Given the description of an element on the screen output the (x, y) to click on. 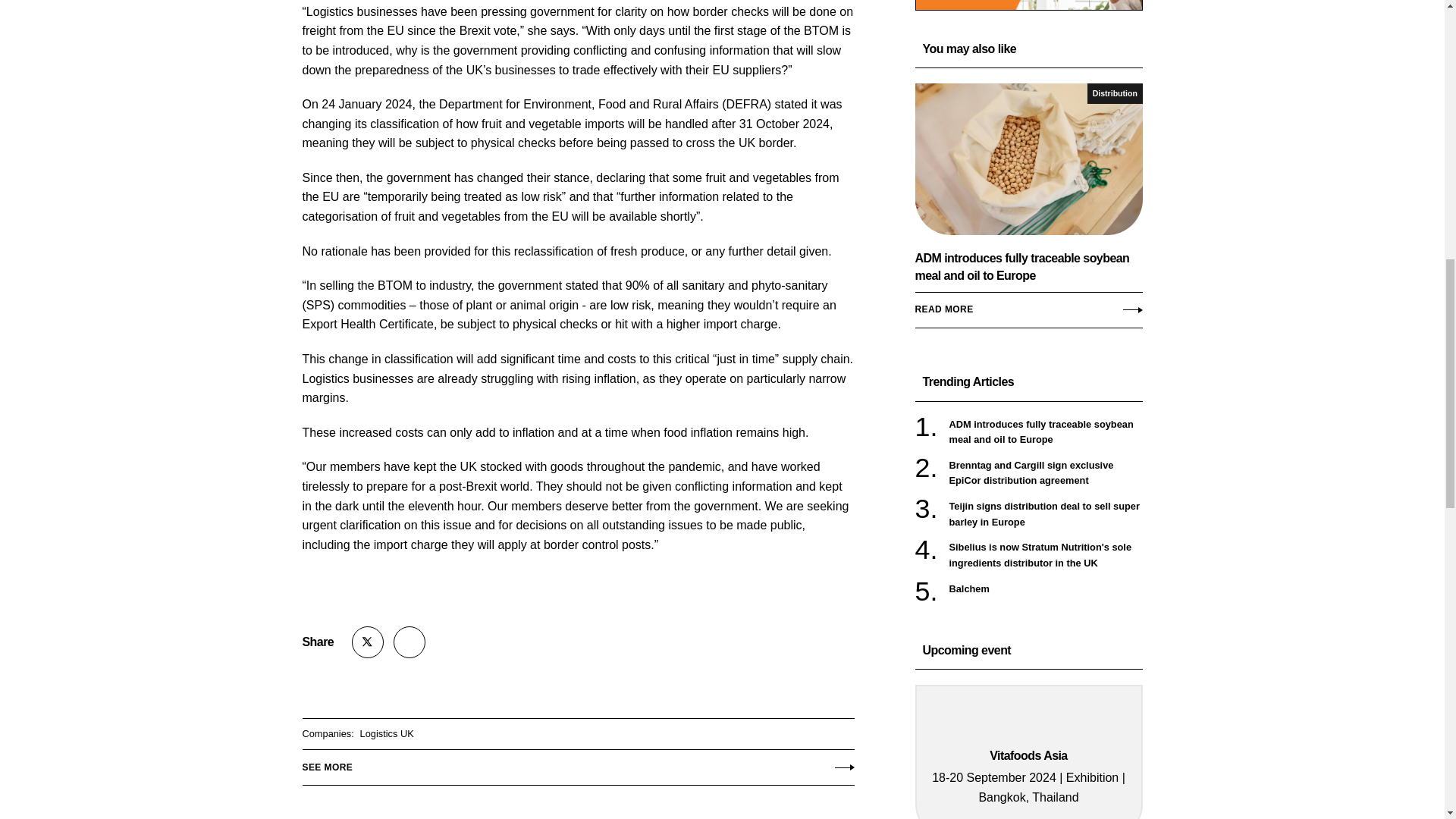
LinkedIn (409, 642)
Distribution (1114, 93)
Balchem (1045, 589)
Follow Nutraceutical Business Review on X (368, 642)
X (368, 642)
SEE MORE (577, 763)
Follow Nutraceutical Business Review on LinkedIn (409, 642)
